Given the description of an element on the screen output the (x, y) to click on. 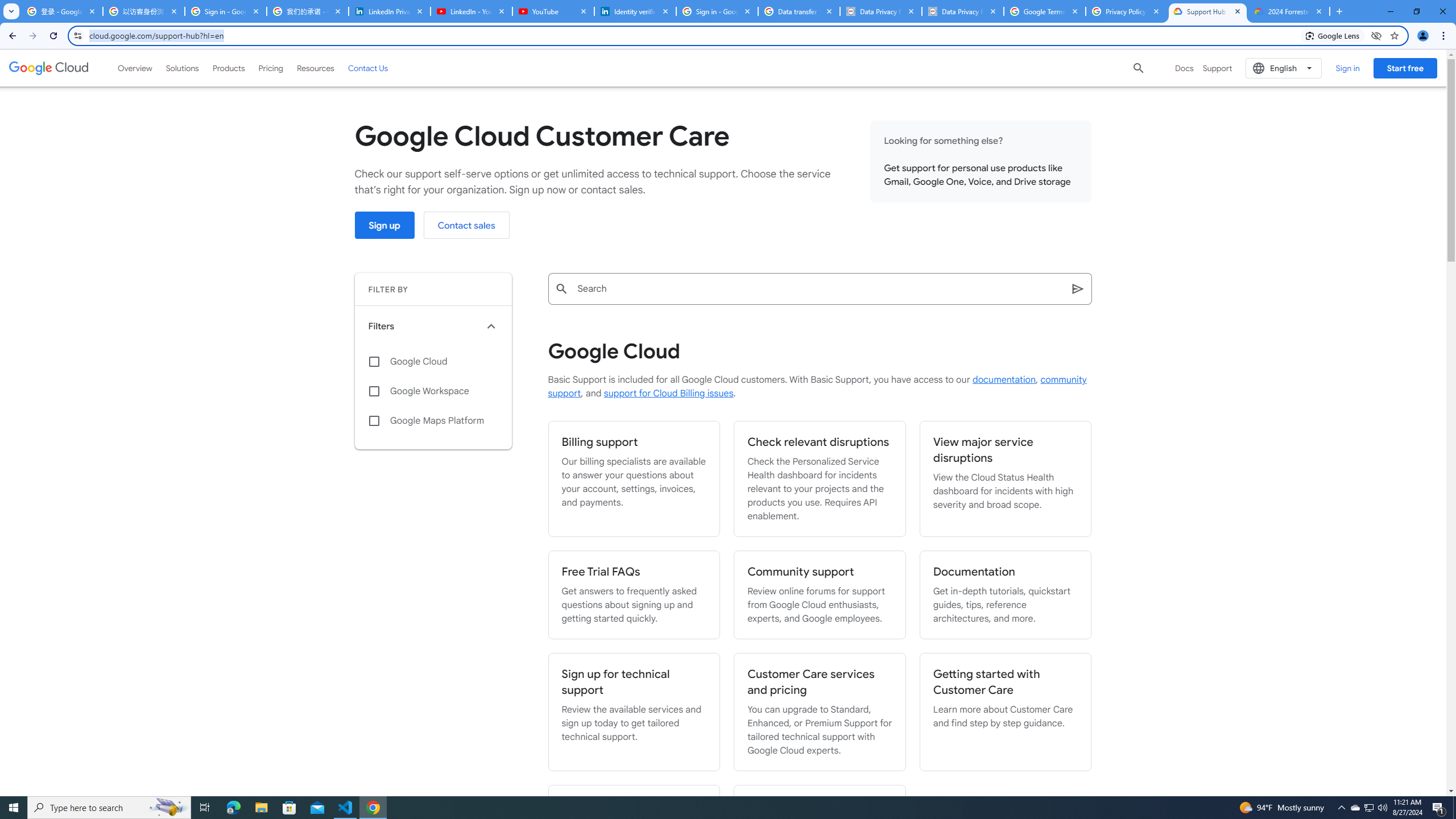
Google Cloud (432, 361)
Contact sales (466, 225)
support for Cloud Billing issues (667, 393)
Solutions (181, 67)
Resources (314, 67)
Data Privacy Framework (963, 11)
